Given the description of an element on the screen output the (x, y) to click on. 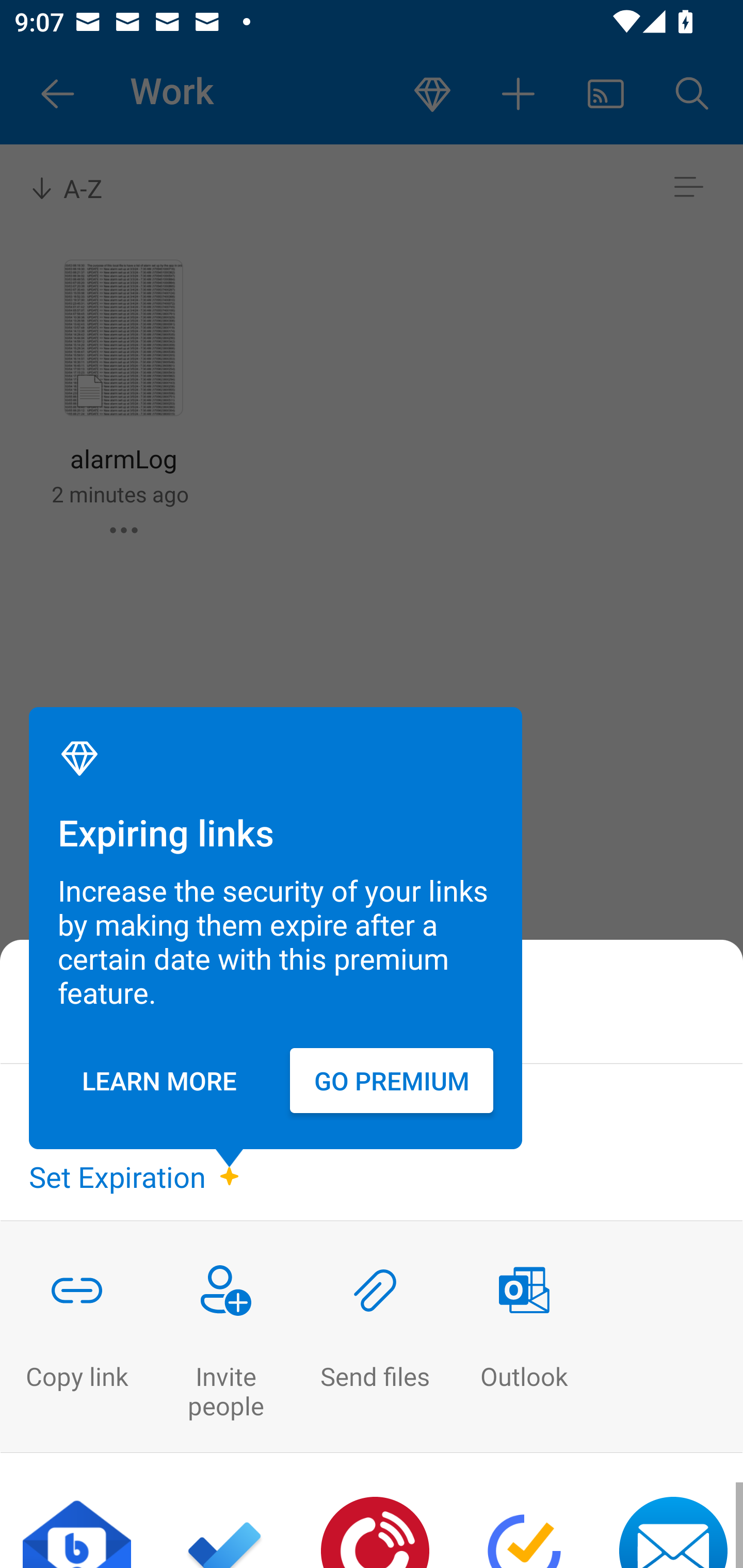
LEARN MORE Learn more (158, 1080)
GO PREMIUM Go premium (391, 1080)
